Given the description of an element on the screen output the (x, y) to click on. 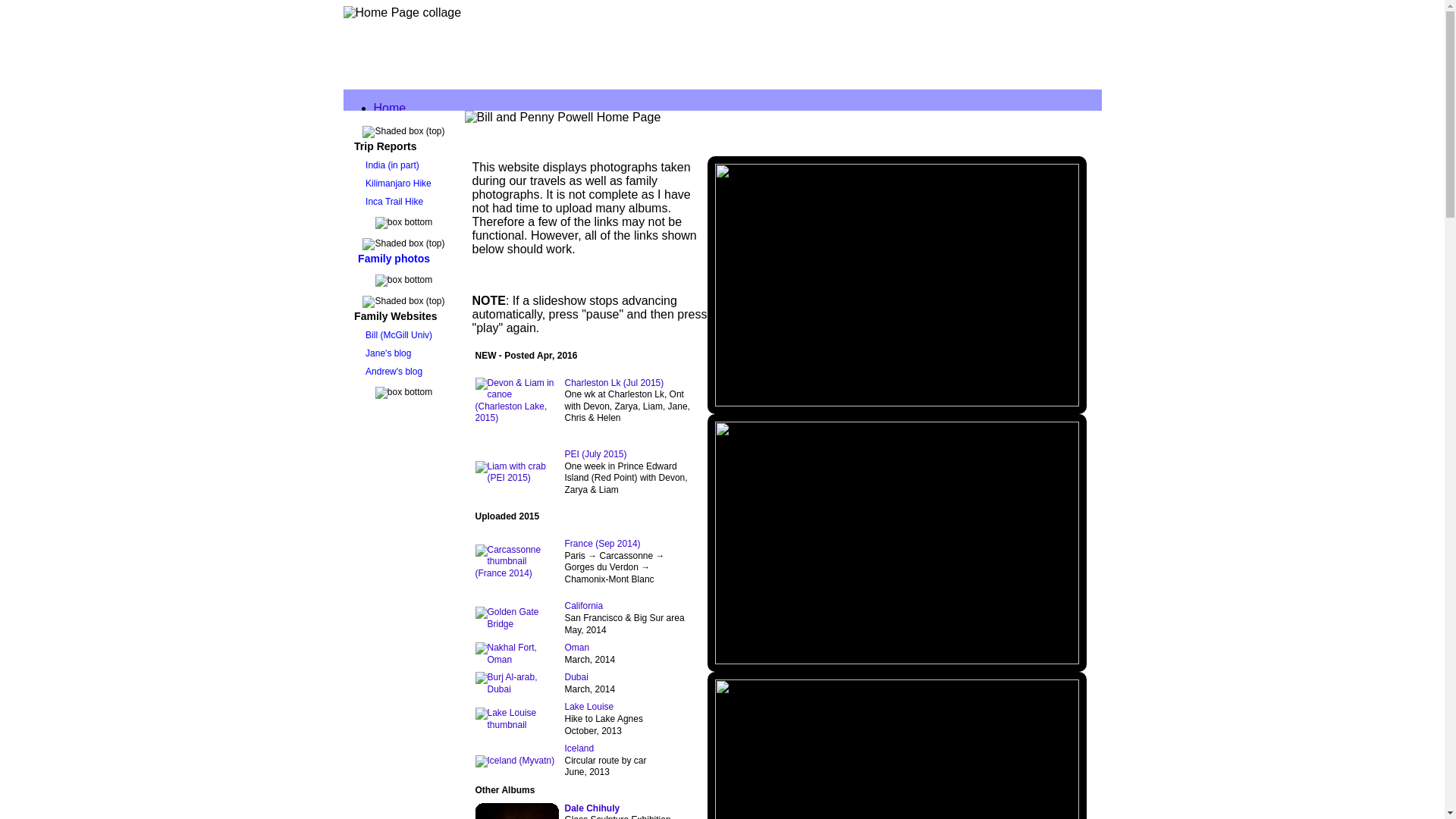
Links Element type: text (387, 503)
Google Element type: text (422, 380)
S America Element type: text (400, 339)
Kilimanjaro Hike Element type: text (396, 183)
Jane's blog Element type: text (386, 353)
PEI (July 2015) Element type: text (595, 453)
Zanzibar Element type: text (426, 216)
Meakins-Christie Labs Element type: text (463, 394)
PubMed Element type: text (425, 435)
Norway (2) Element type: text (432, 298)
India (in part) Element type: text (390, 165)
Home Element type: text (389, 107)
Europe Element type: text (392, 271)
Oman Element type: text (576, 647)
QuikLinks Element type: text (399, 366)
Iceland Element type: text (578, 748)
Dubai Element type: text (575, 676)
McGill University Element type: text (448, 407)
Jane Element type: text (416, 175)
France (Sep 2014) Element type: text (602, 543)
McGill Phone Dir Element type: text (448, 421)
1979-85 Element type: text (425, 148)
Lake Louise Element type: text (588, 706)
Inca Trail Hike Element type: text (392, 201)
Easter Island Element type: hover (895, 542)
Oceania Element type: text (395, 326)
California Element type: text (583, 605)
Wiktionary Element type: text (431, 489)
Dale Chihuly Element type: text (591, 808)
Norway (1) Element type: text (432, 285)
N America Element type: text (401, 312)
Charleston Lk (Jul 2015) Element type: text (613, 382)
Weather Element type: text (425, 448)
Andrew's blog Element type: text (391, 371)
Family photos Element type: text (391, 258)
1975-78 Element type: text (425, 134)
Family Element type: text (390, 121)
Bill (McGill Univ) Element type: text (396, 334)
1986-95 Element type: text (425, 162)
Jordan Element type: text (421, 257)
Africa Element type: text (388, 189)
India Element type: text (416, 244)
Peru Element type: text (416, 353)
Fishermen returning home, Medewi, Bali Element type: hover (895, 285)
Wikipedia Element type: text (429, 476)
Asia Element type: text (384, 230)
Web of Science Element type: text (445, 462)
Kilimanjaro Element type: text (433, 203)
